Given the description of an element on the screen output the (x, y) to click on. 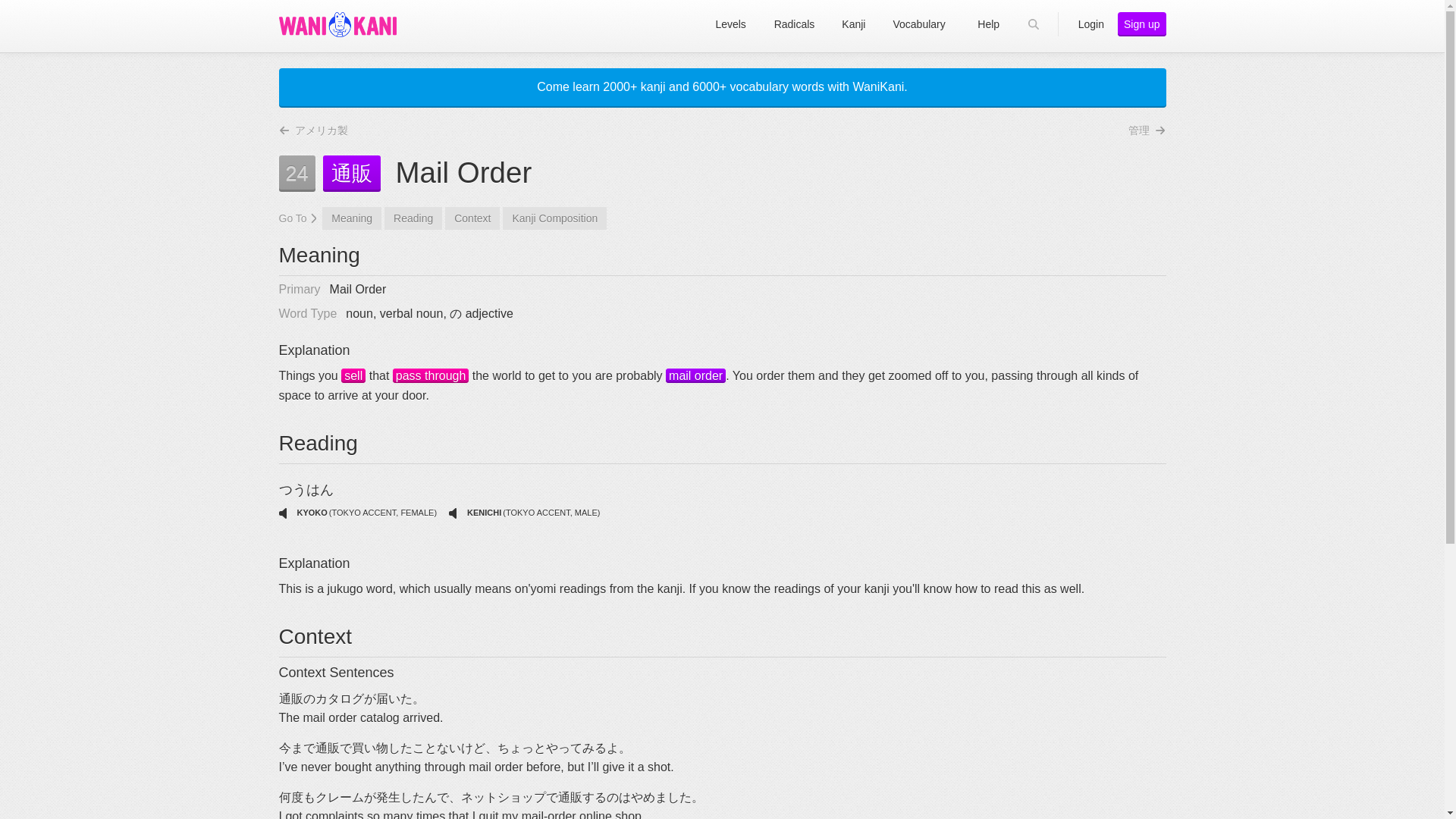
Kanji (352, 375)
Kanji (430, 375)
Levels (730, 24)
Vocabulary (695, 375)
WaniKani (337, 24)
